Given the description of an element on the screen output the (x, y) to click on. 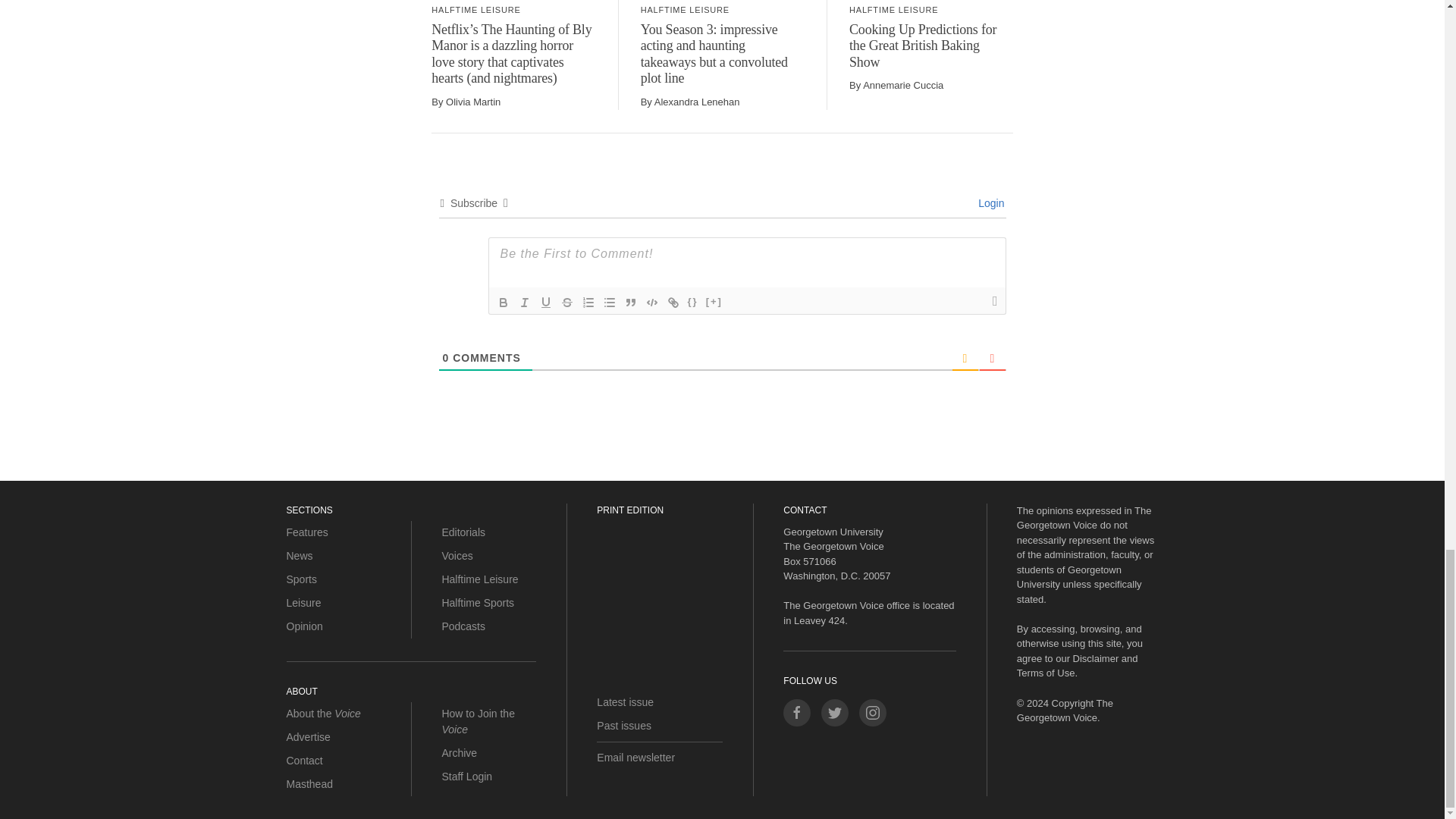
Blockquote (631, 302)
Code Block (652, 302)
Italic (524, 302)
Strike (567, 302)
Ordered List (588, 302)
Unordered List (609, 302)
Link (673, 302)
Posts by Alexandra Lenehan (696, 101)
Bold (503, 302)
Posts by Olivia Martin (472, 101)
Posts by Annemarie Cuccia (903, 84)
Spoiler (713, 302)
Source Code (692, 302)
Underline (545, 302)
